Given the description of an element on the screen output the (x, y) to click on. 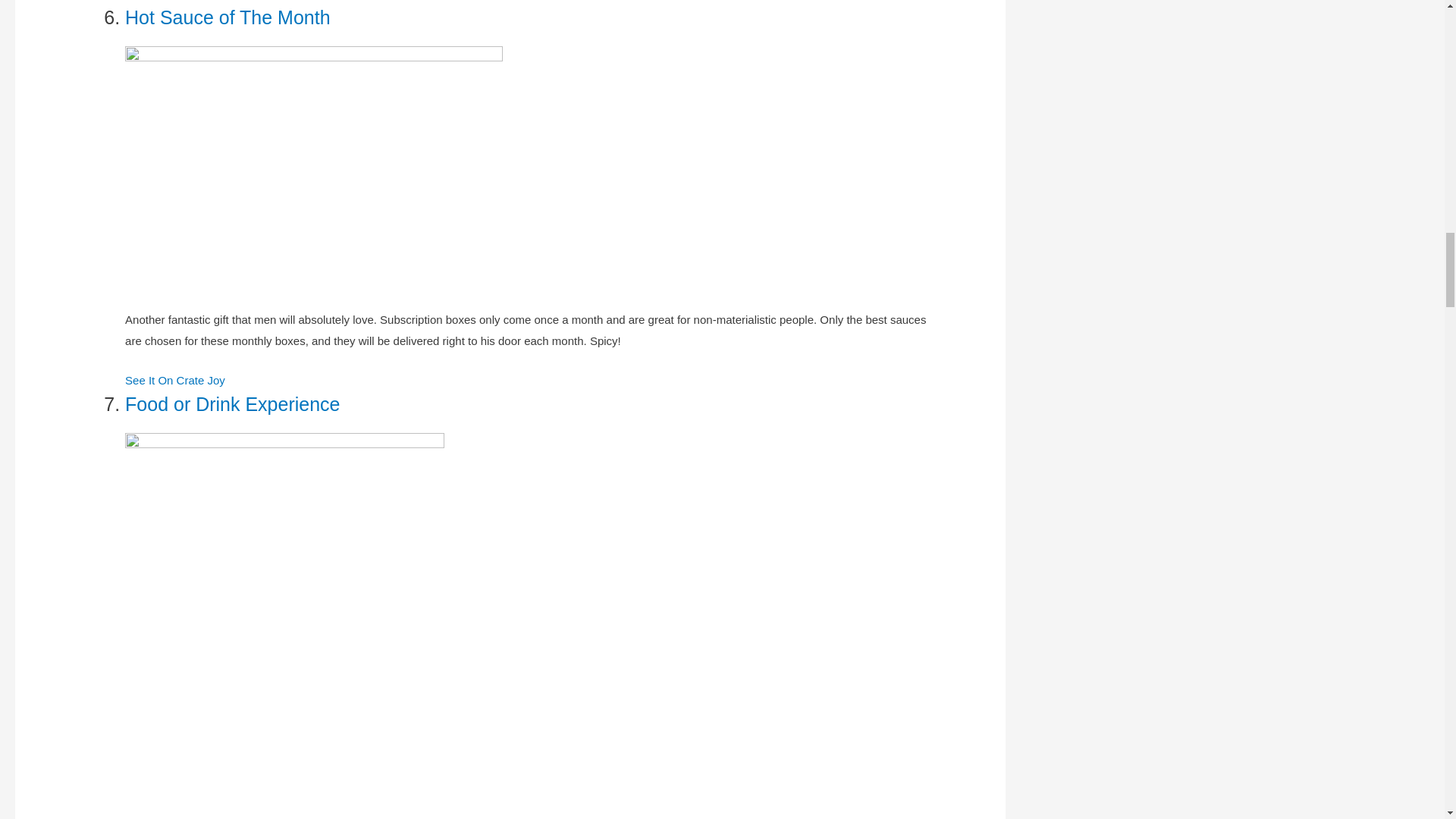
See It On Crate Joy (175, 379)
Food or Drink Experience (232, 403)
Hot Sauce of The Month (227, 16)
